Given the description of an element on the screen output the (x, y) to click on. 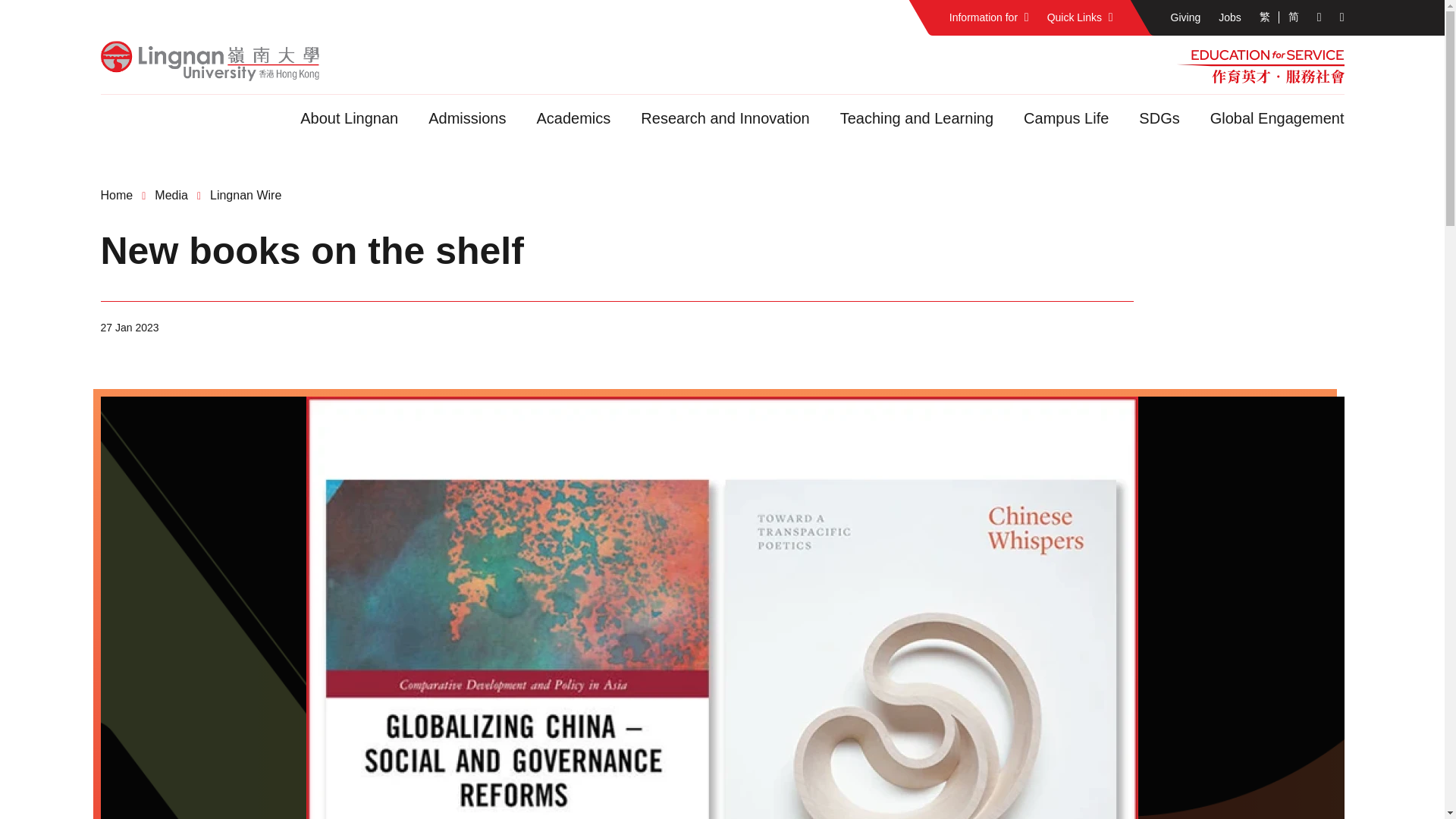
Information for (989, 18)
About Lingnan (348, 117)
Quick Links (1079, 18)
